Given the description of an element on the screen output the (x, y) to click on. 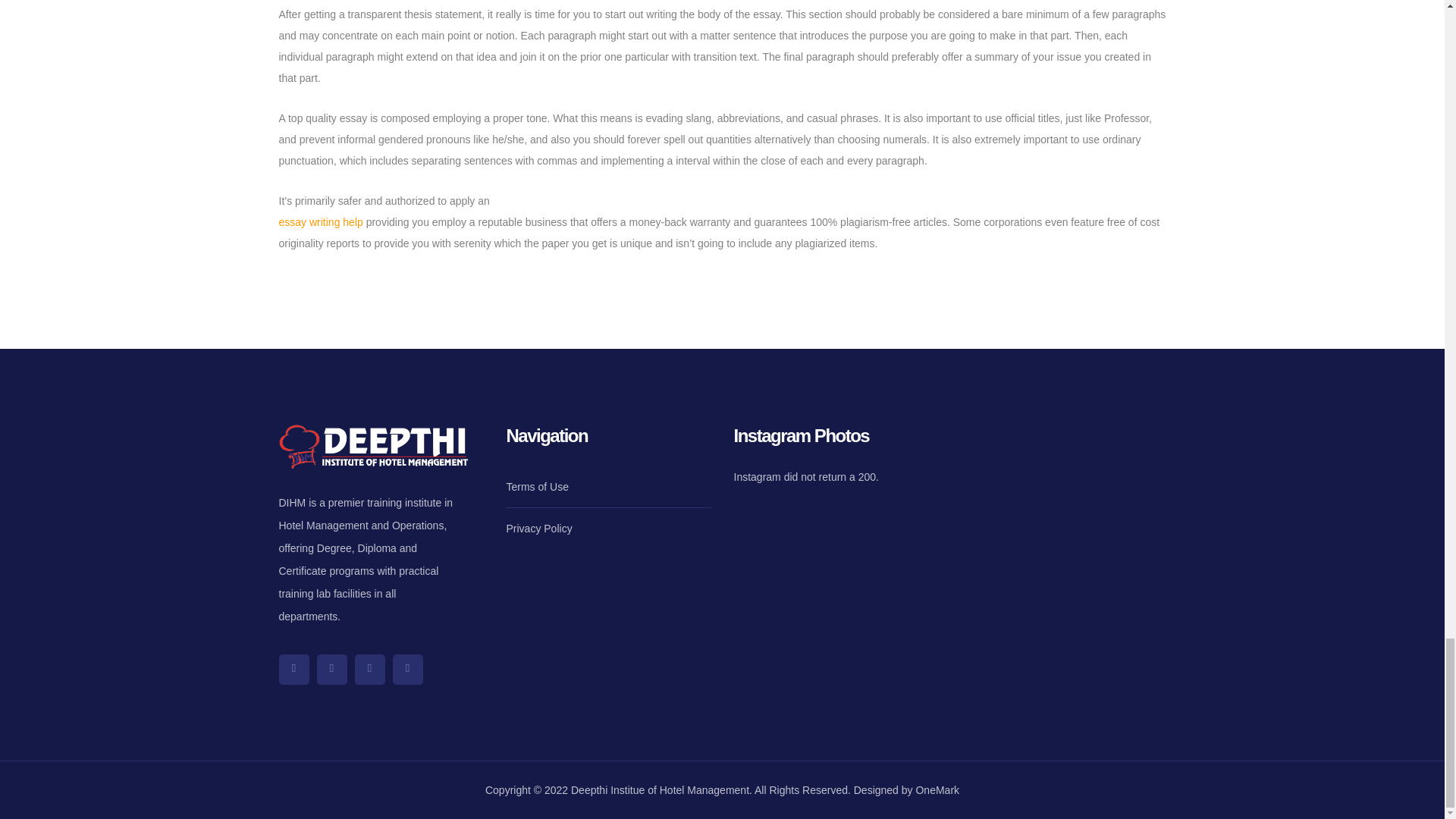
youtube (408, 669)
essay writing help (320, 222)
instagram (370, 669)
twitter (293, 669)
facebook (332, 669)
Deepthi Institute Of Hotel Management (1063, 482)
Privacy Policy (539, 527)
Terms of Use (537, 486)
